Given the description of an element on the screen output the (x, y) to click on. 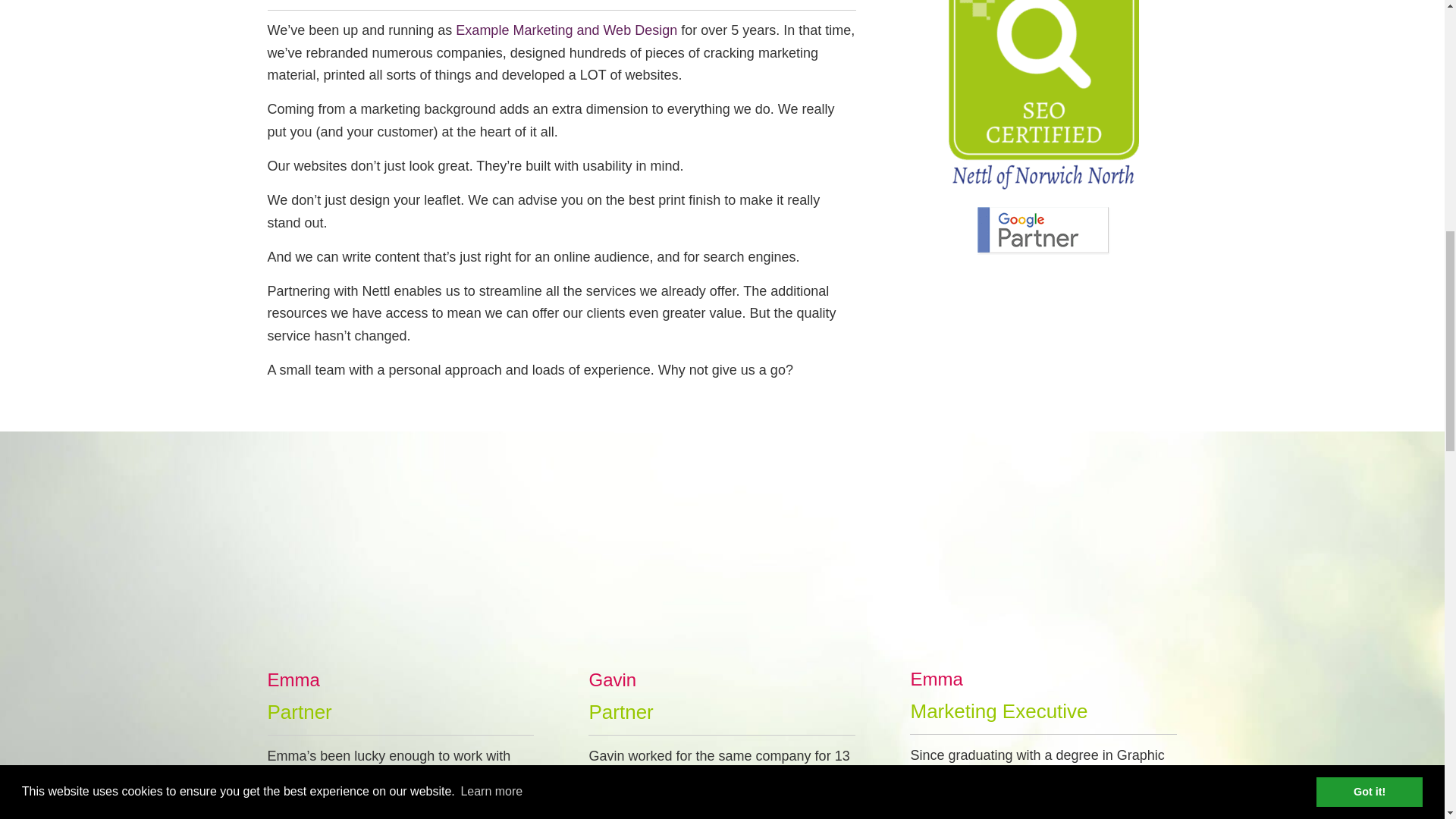
GooglePartnerBadge (1043, 230)
seo-certified-norwich-north (1043, 98)
